Given the description of an element on the screen output the (x, y) to click on. 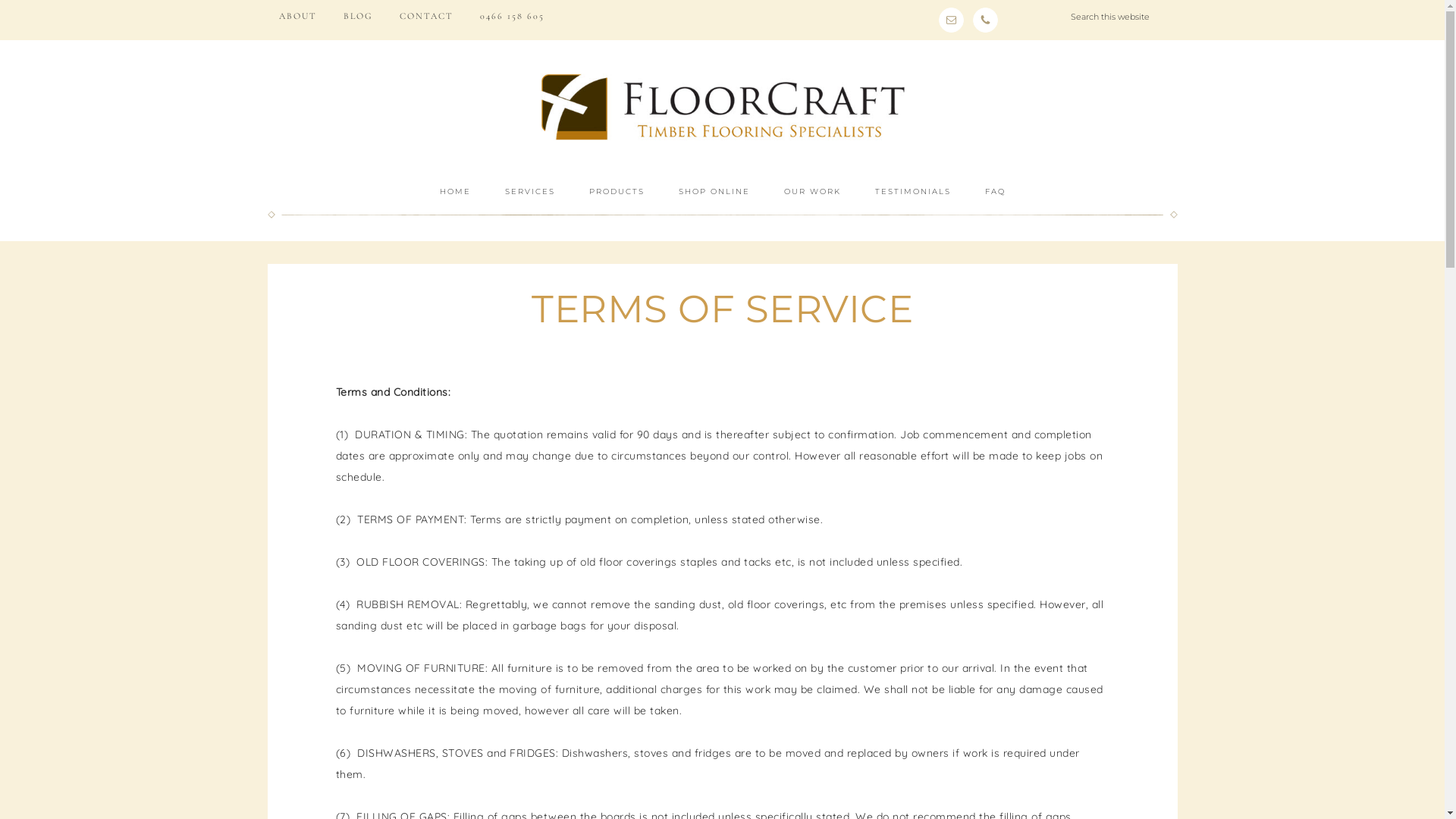
TESTIMONIALS Element type: text (912, 191)
0466 158 605 Element type: text (511, 15)
OUR WORK Element type: text (812, 191)
FLOORCRAFT SA Element type: text (721, 106)
PRODUCTS Element type: text (615, 191)
HOME Element type: text (455, 191)
BLOG Element type: text (358, 15)
SERVICES Element type: text (529, 191)
FAQ Element type: text (994, 191)
CONTACT Element type: text (426, 15)
SHOP ONLINE Element type: text (713, 191)
ABOUT Element type: text (296, 15)
